Given the description of an element on the screen output the (x, y) to click on. 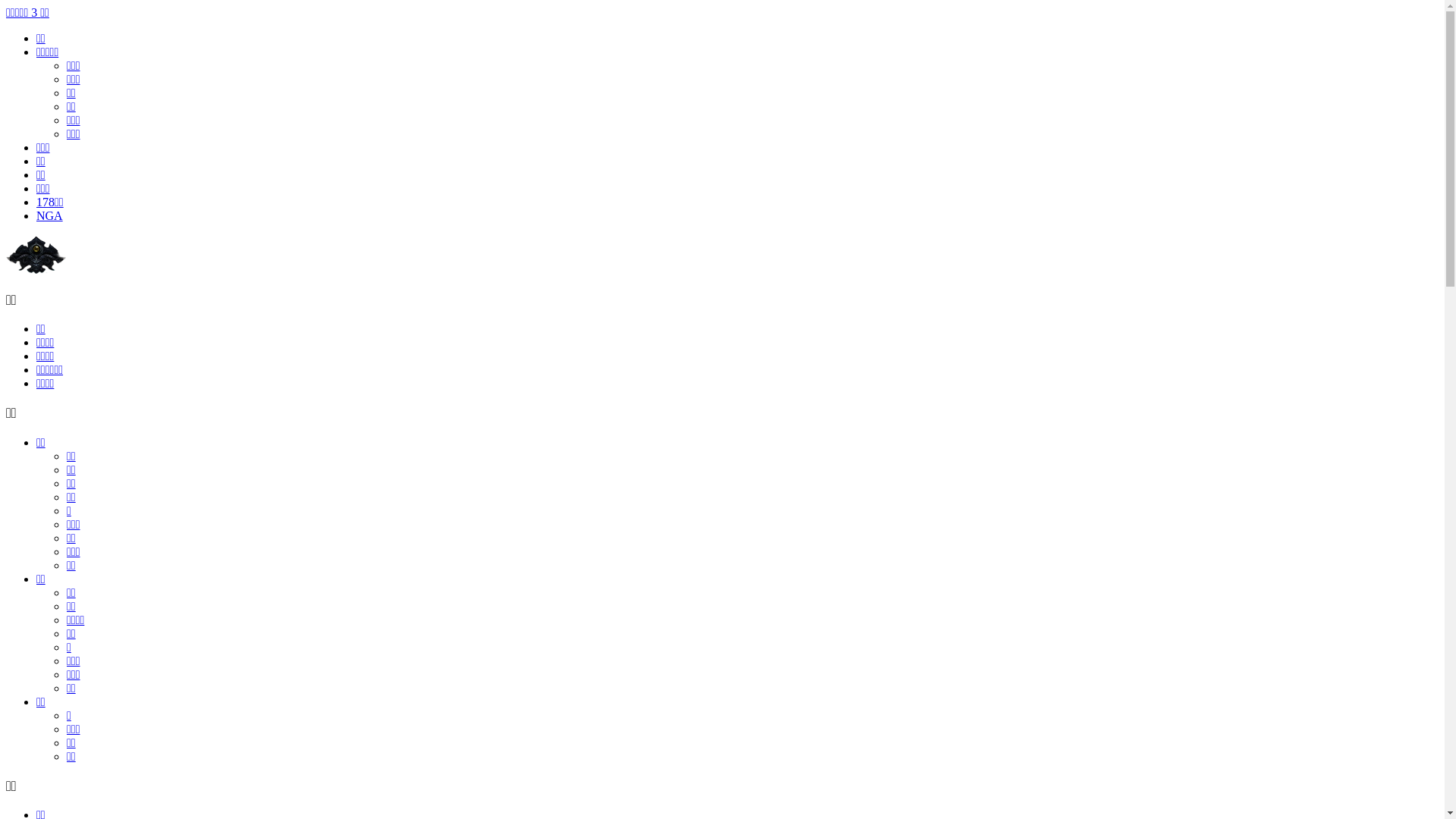
NGA Element type: text (49, 215)
